Given the description of an element on the screen output the (x, y) to click on. 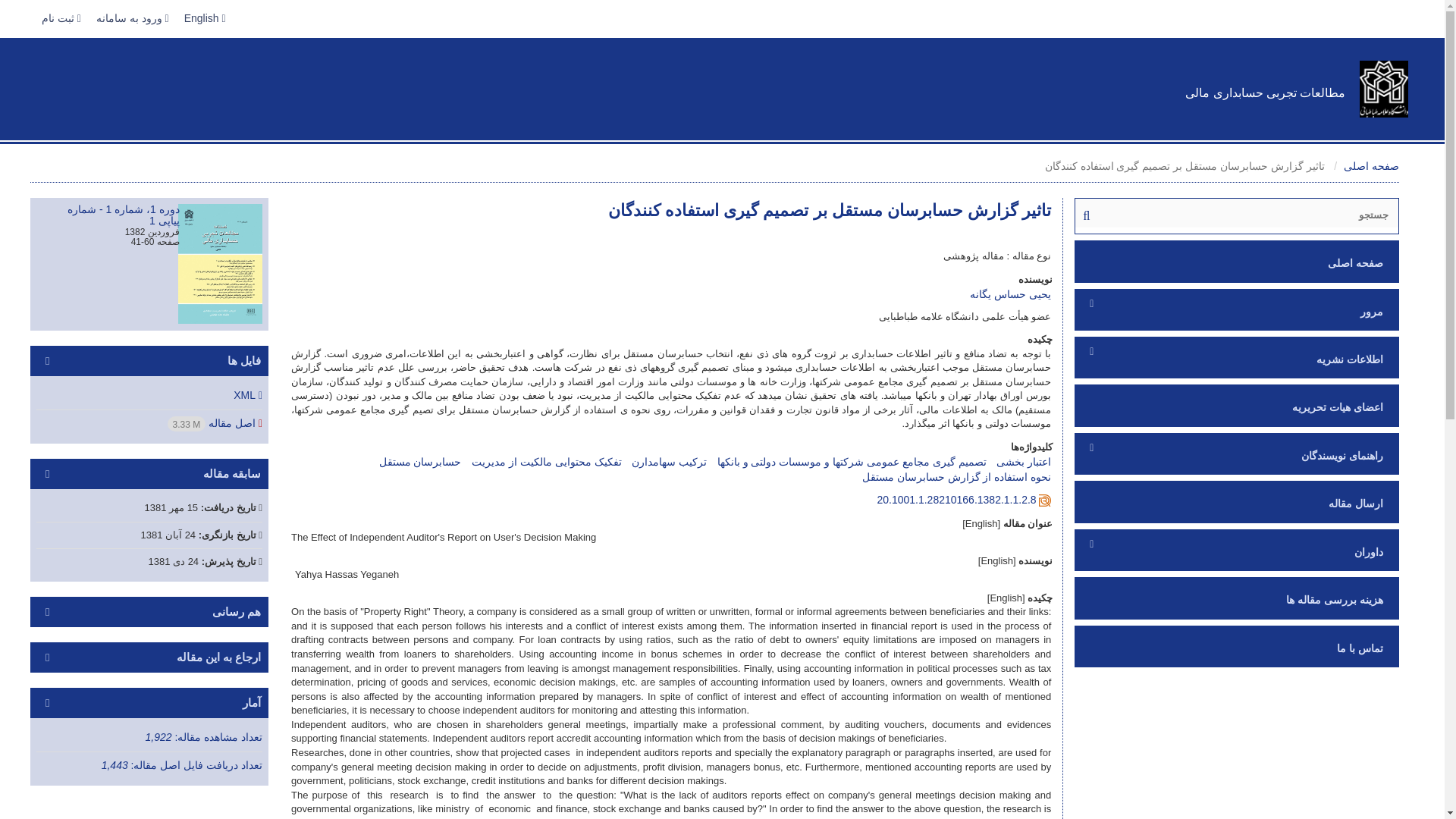
DOR (955, 499)
English (204, 18)
